Given the description of an element on the screen output the (x, y) to click on. 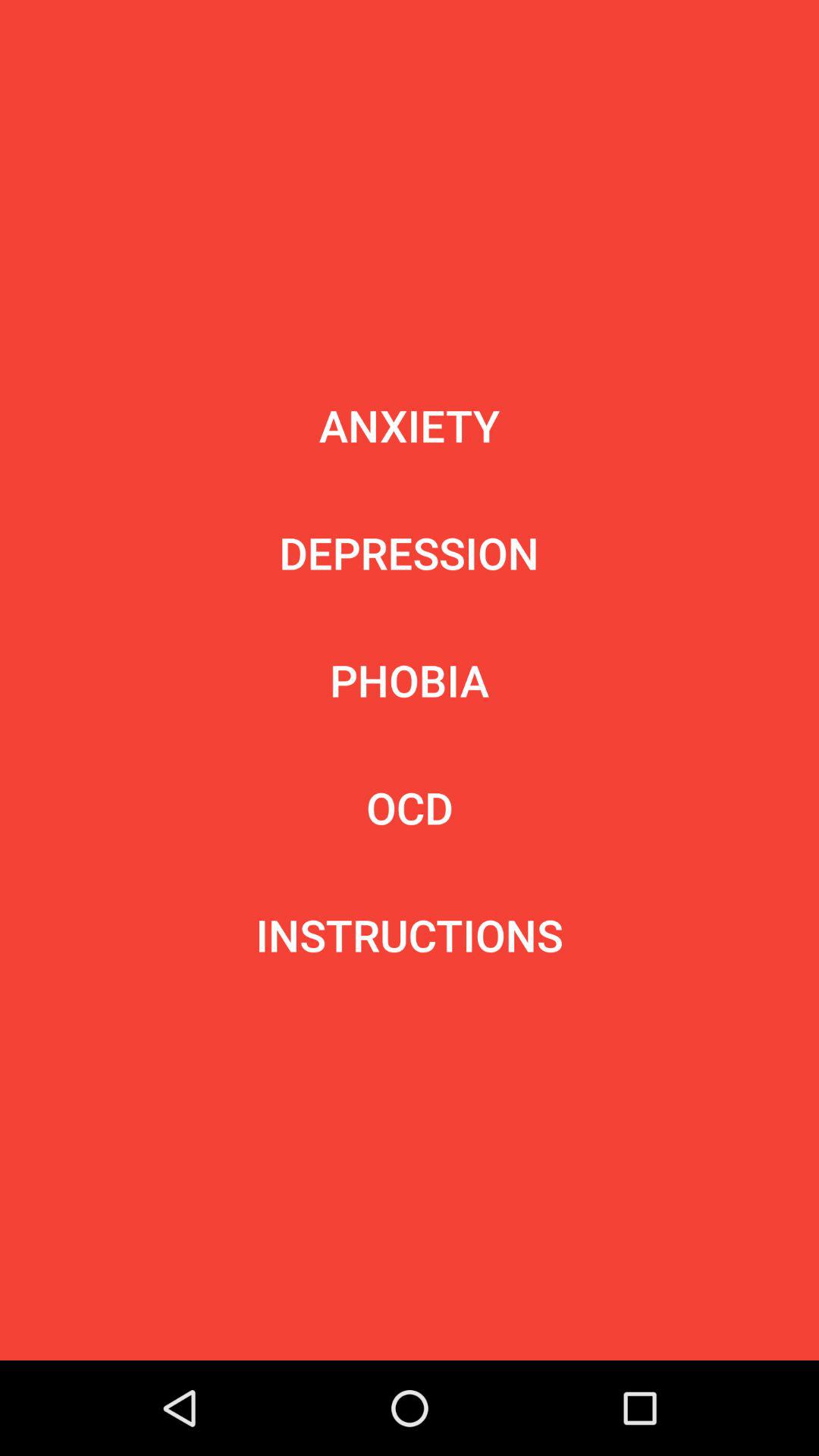
turn on icon below the phobia (409, 807)
